Given the description of an element on the screen output the (x, y) to click on. 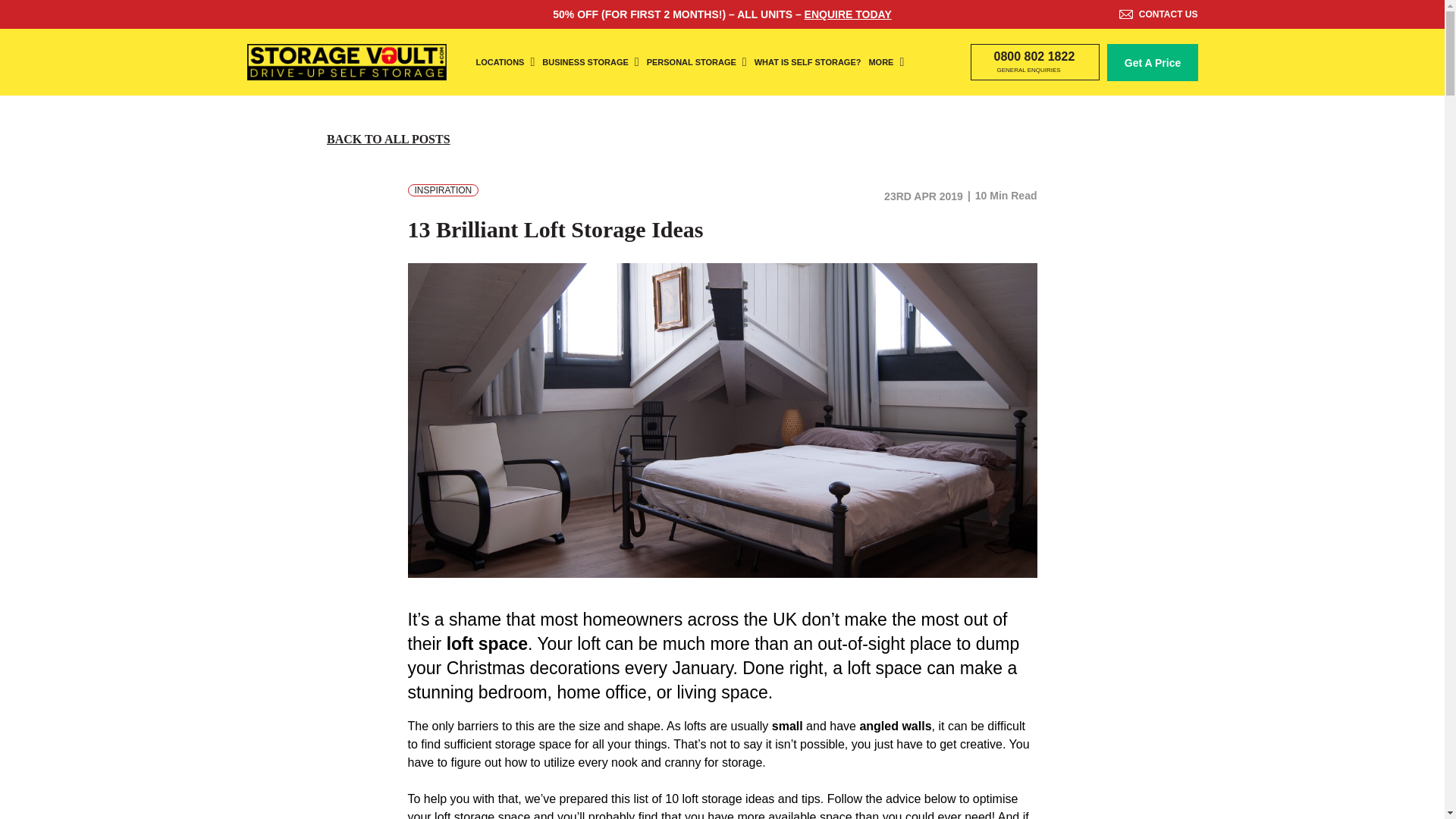
WHAT IS SELF STORAGE? (807, 61)
LOCATIONS (505, 61)
BUSINESS STORAGE (590, 61)
ENQUIRE TODAY (848, 14)
PERSONAL STORAGE (696, 61)
MORE (885, 61)
